Given the description of an element on the screen output the (x, y) to click on. 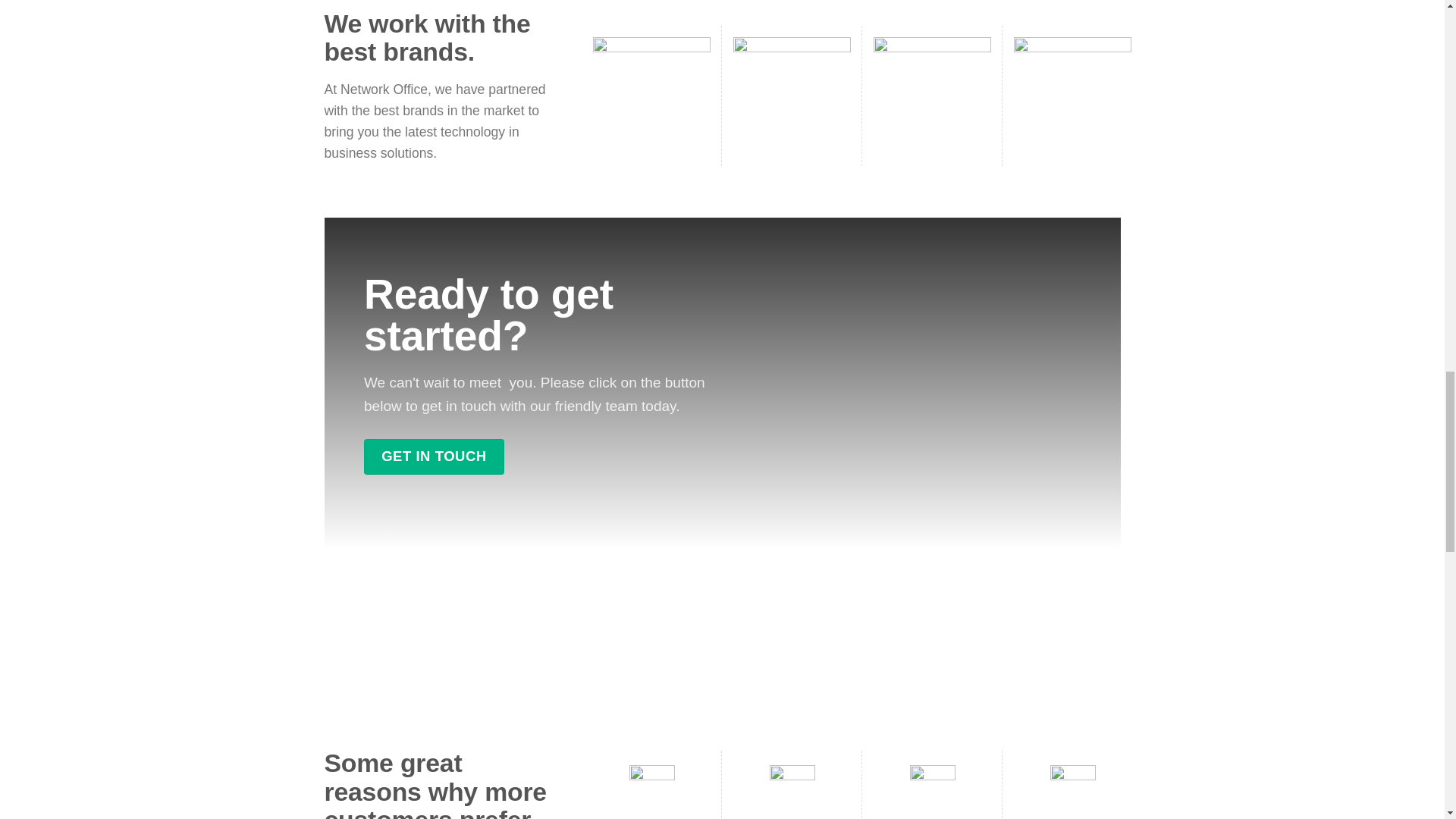
GET IN TOUCH (433, 456)
